Given the description of an element on the screen output the (x, y) to click on. 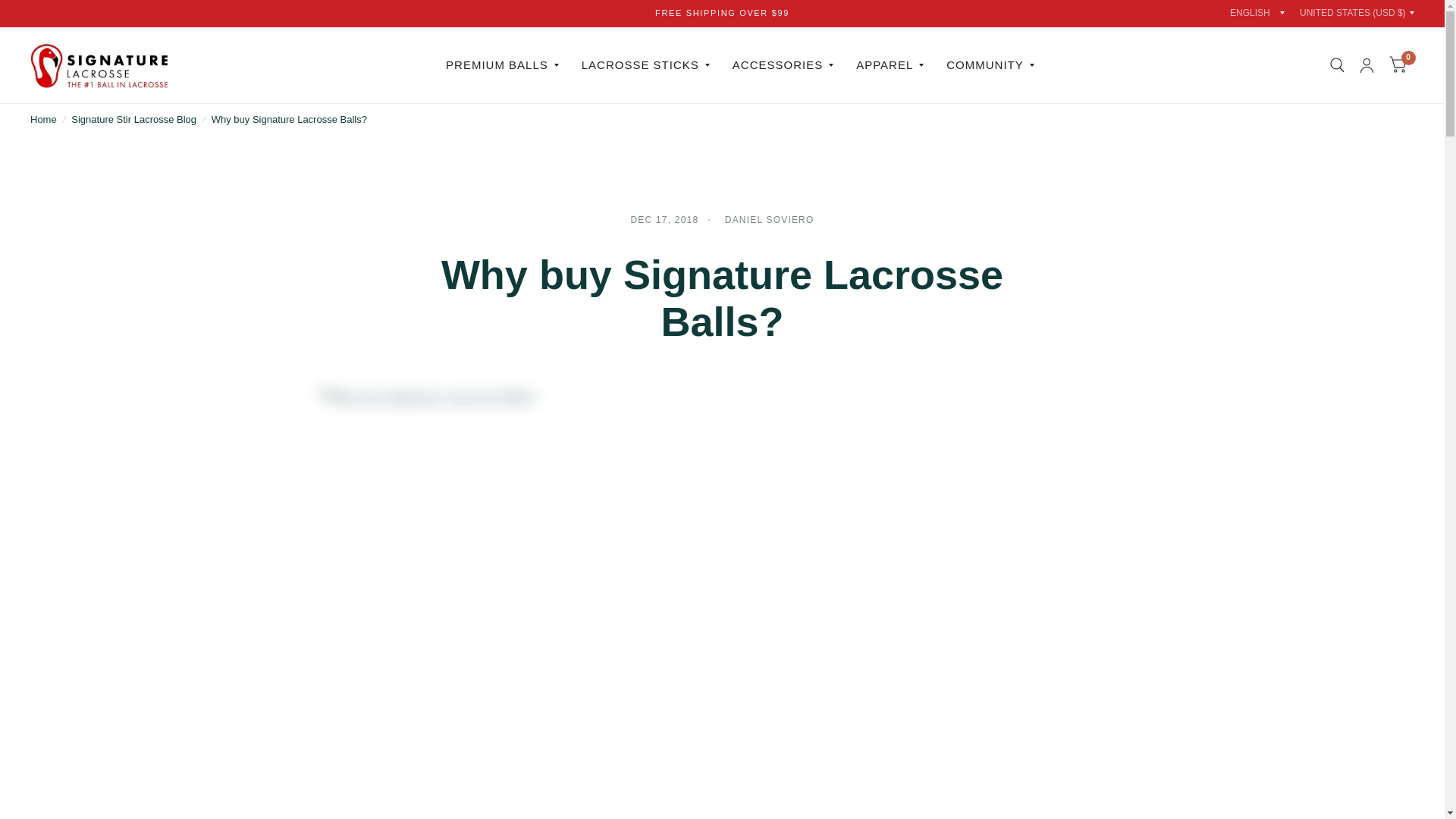
ACCESSORIES (782, 64)
PREMIUM BALLS (502, 64)
ACCESSORIES (782, 64)
APPAREL (889, 64)
LACROSSE STICKS (645, 64)
COMMUNITY (989, 64)
LACROSSE STICKS (645, 64)
PREMIUM BALLS (502, 64)
